Given the description of an element on the screen output the (x, y) to click on. 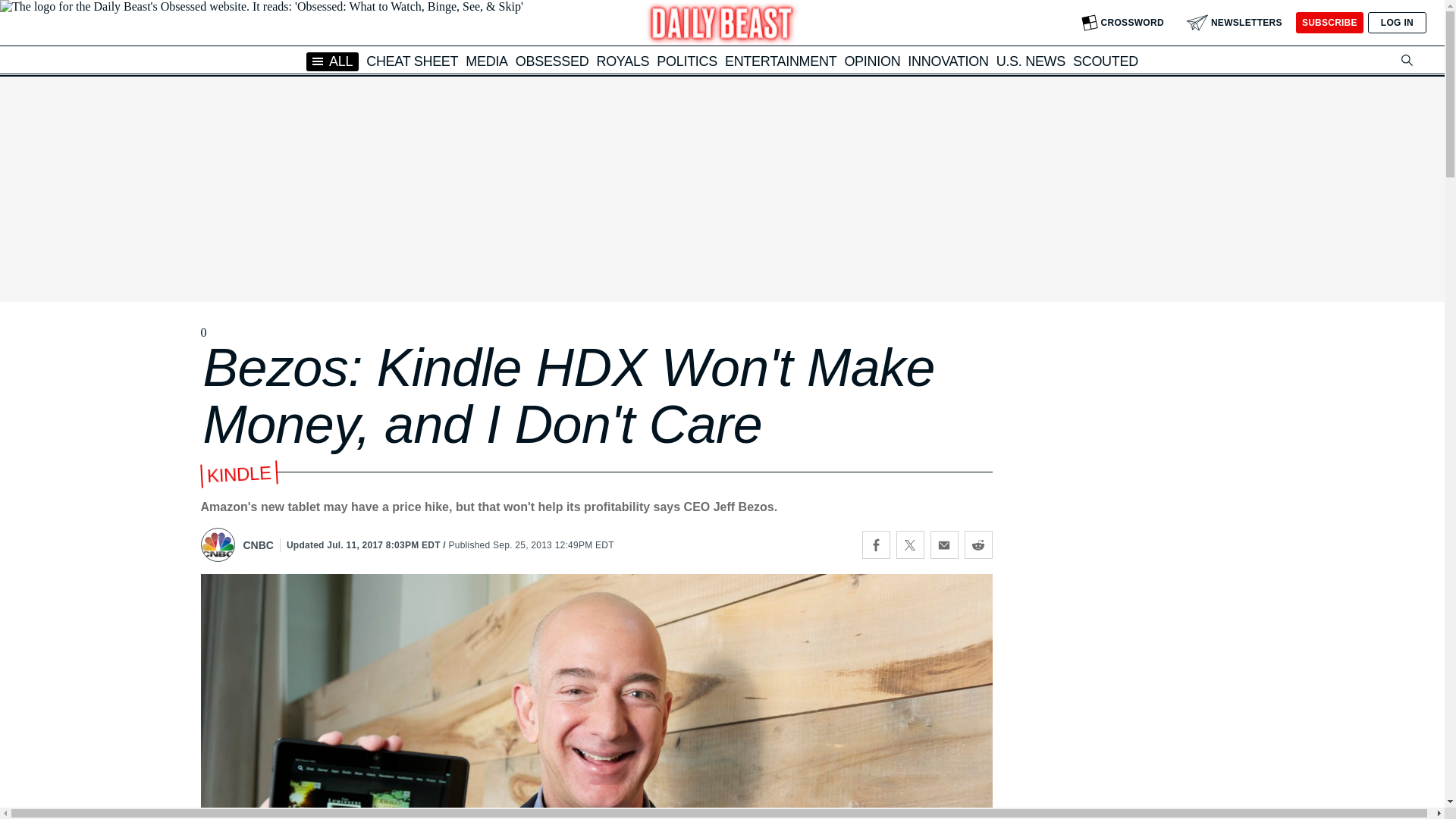
ROYALS (622, 60)
CHEAT SHEET (412, 60)
U.S. NEWS (1030, 60)
OPINION (871, 60)
OBSESSED (552, 60)
INNOVATION (947, 60)
CROSSWORD (1122, 22)
ALL (331, 60)
ENTERTAINMENT (780, 60)
LOG IN (1397, 22)
